Given the description of an element on the screen output the (x, y) to click on. 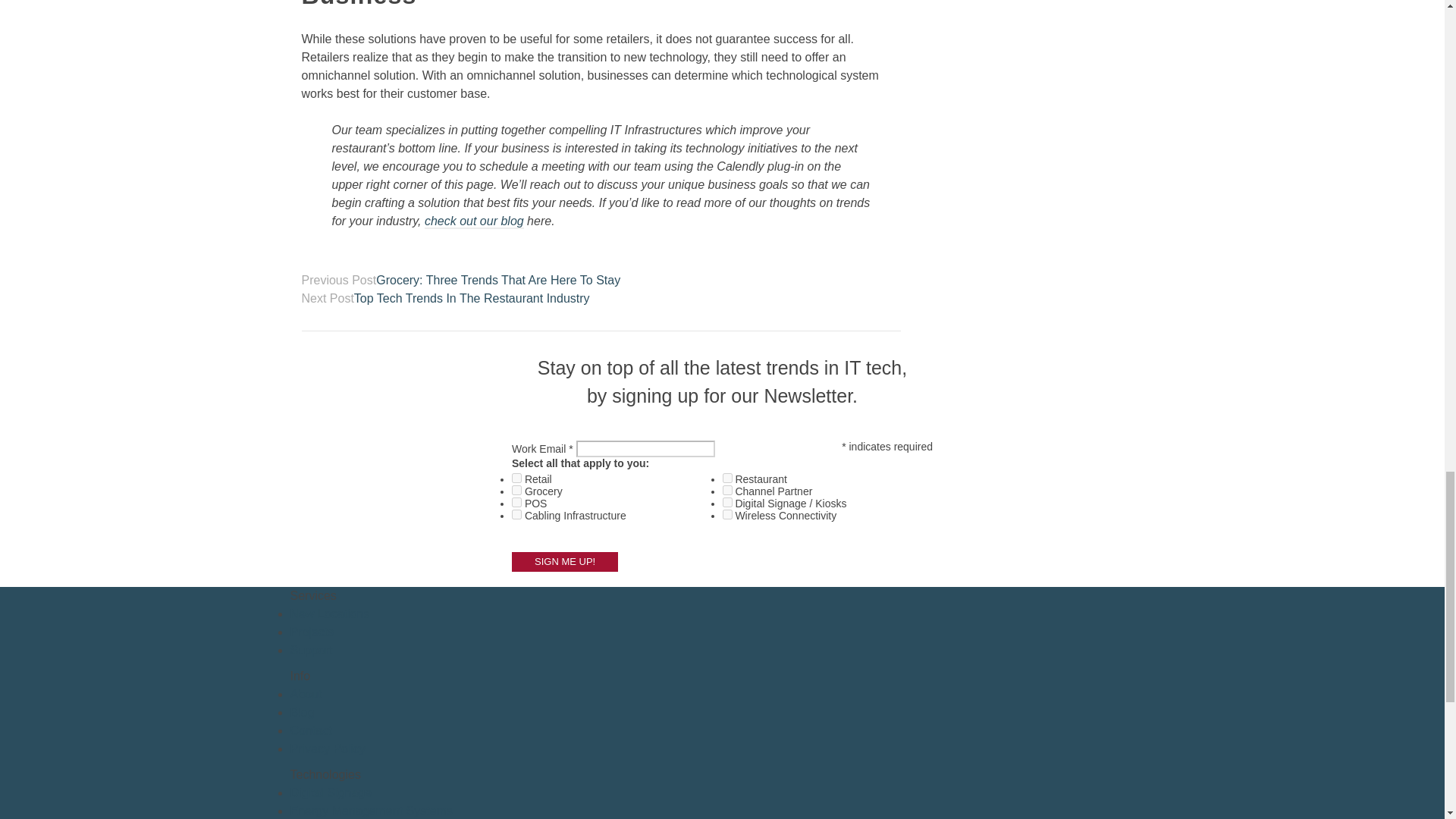
8 (727, 490)
2 (727, 478)
4 (516, 490)
128 (727, 514)
16 (516, 501)
32 (727, 501)
Sign Me Up! (564, 561)
1 (516, 478)
64 (516, 514)
